Given the description of an element on the screen output the (x, y) to click on. 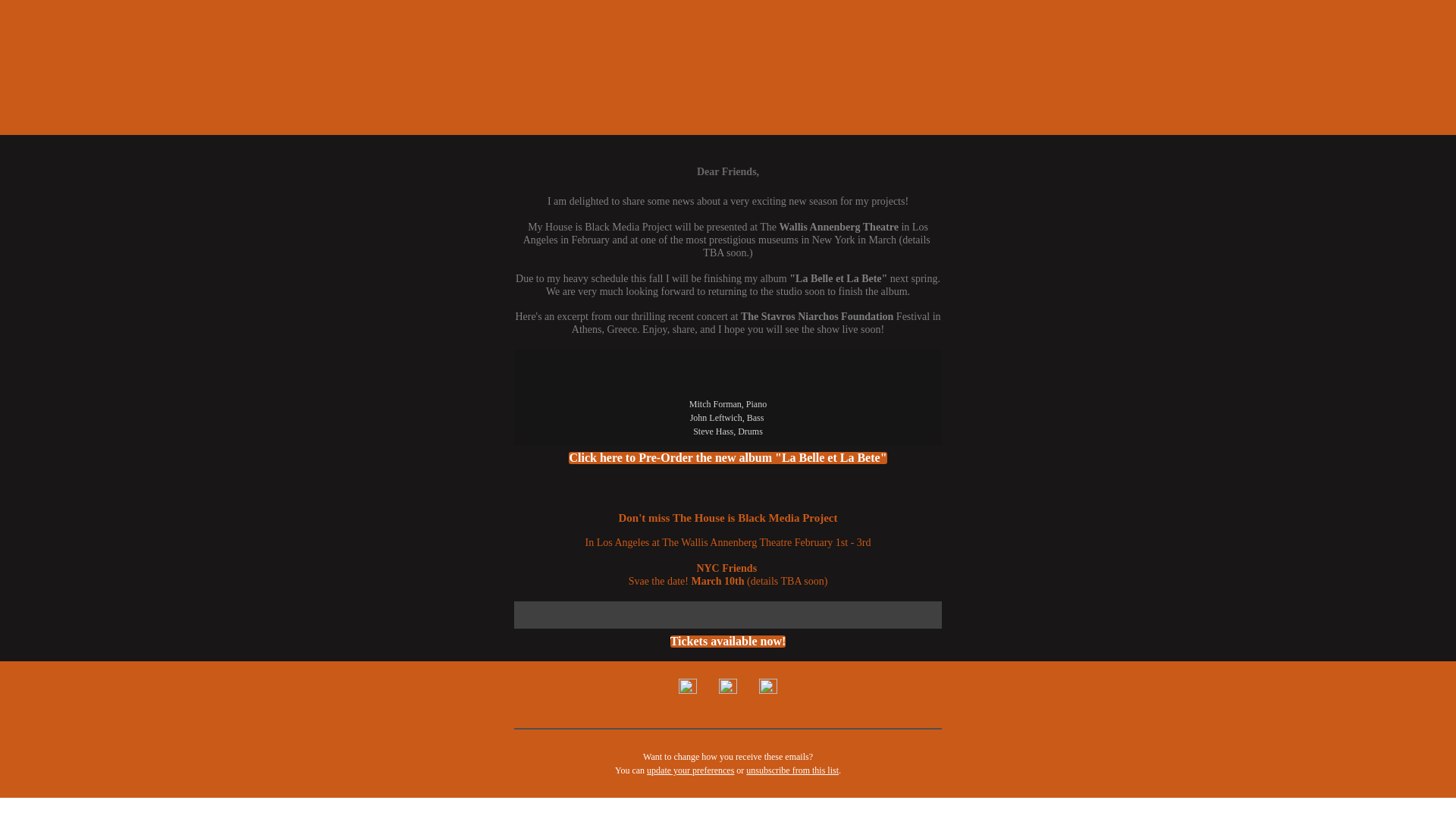
update your preferences (689, 769)
Click here to Pre-Order the new album "La Belle et La Bete" (727, 458)
unsubscribe from this list (791, 769)
Tickets available now! (727, 641)
Tickets available now! (727, 641)
Click here to Pre-Order the new album  (727, 458)
